Given the description of an element on the screen output the (x, y) to click on. 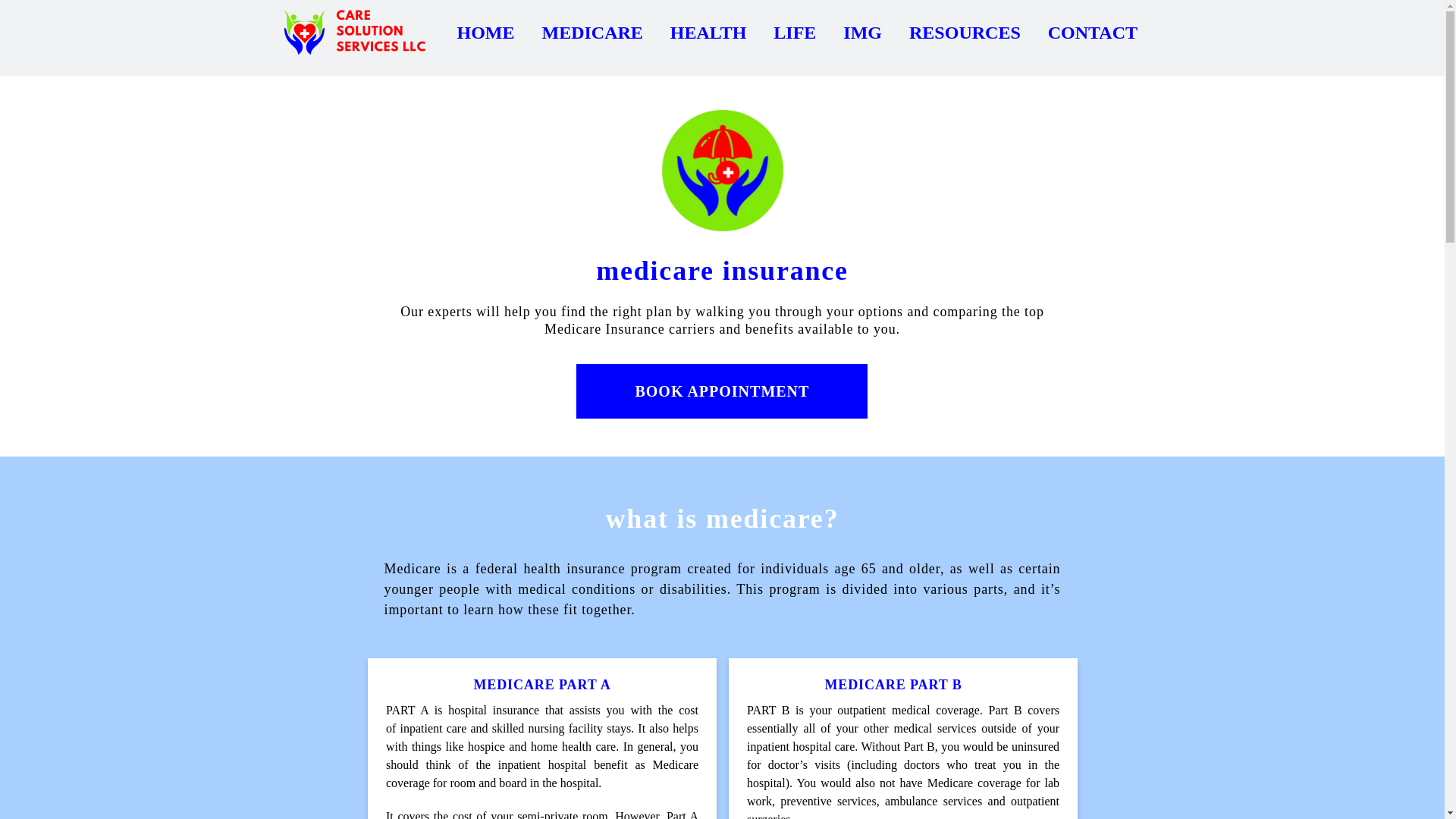
CONTACT (1092, 32)
IMG (862, 32)
HEALTH (707, 32)
MEDICARE (591, 32)
HOME (485, 32)
LIFE (794, 32)
BOOK APPOINTMENT (721, 536)
RESOURCES (964, 32)
